Given the description of an element on the screen output the (x, y) to click on. 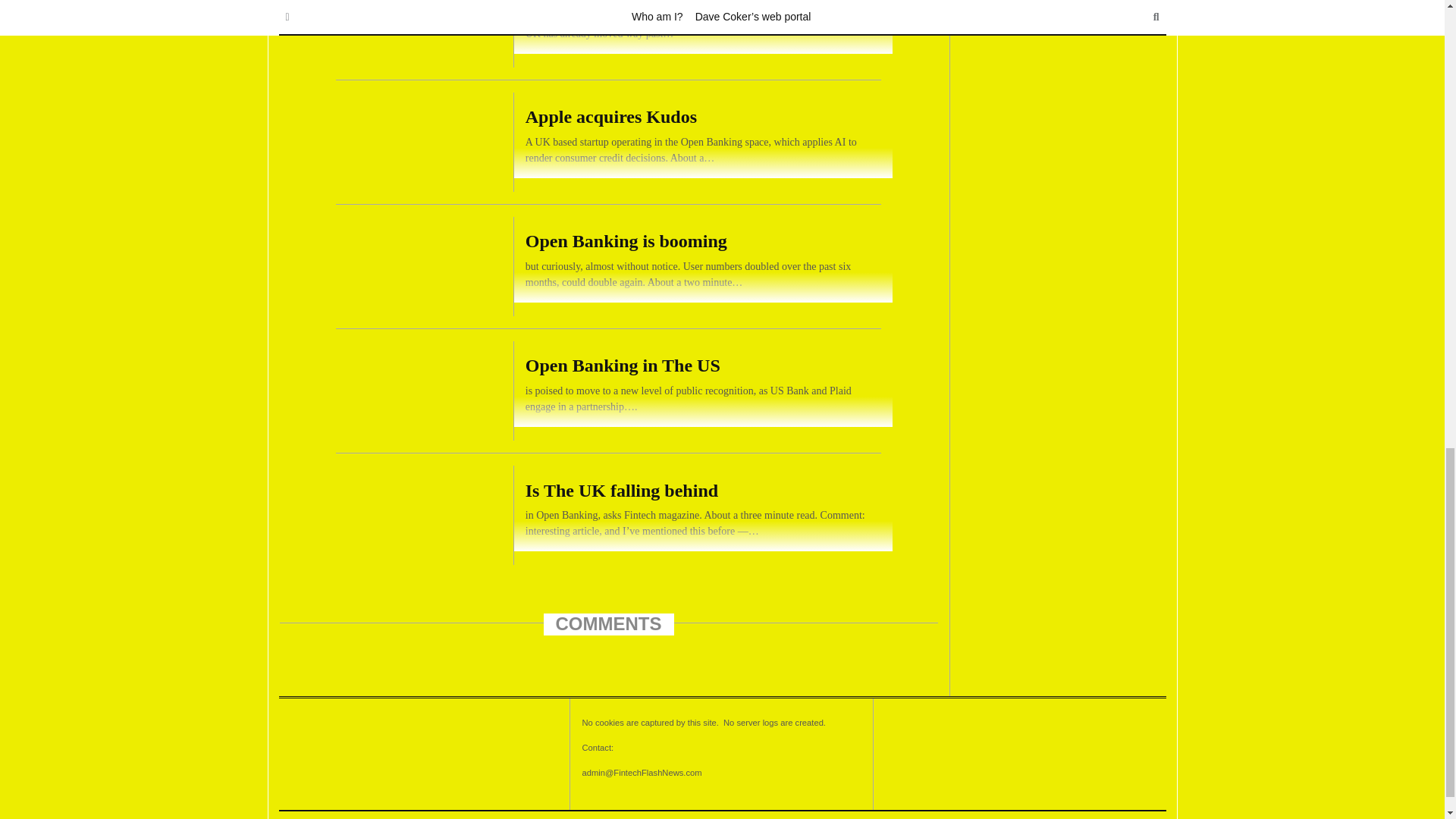
Open Banking Takes Off (608, 39)
Apple acquires Kudos (608, 141)
Is The UK falling behind (608, 515)
Open Banking is booming (608, 266)
Open Banking in The US (608, 390)
